Given the description of an element on the screen output the (x, y) to click on. 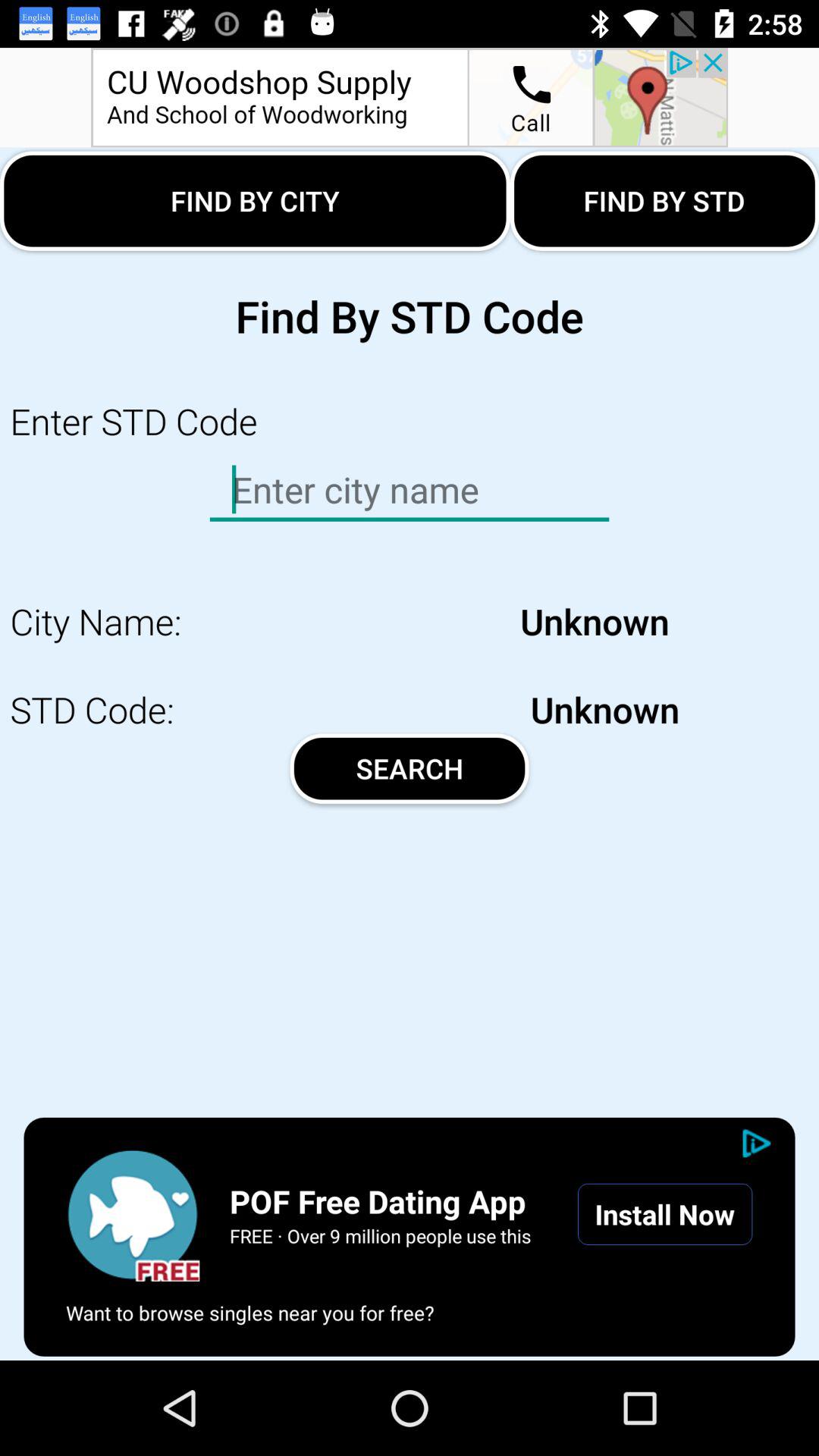
logo (132, 1214)
